Given the description of an element on the screen output the (x, y) to click on. 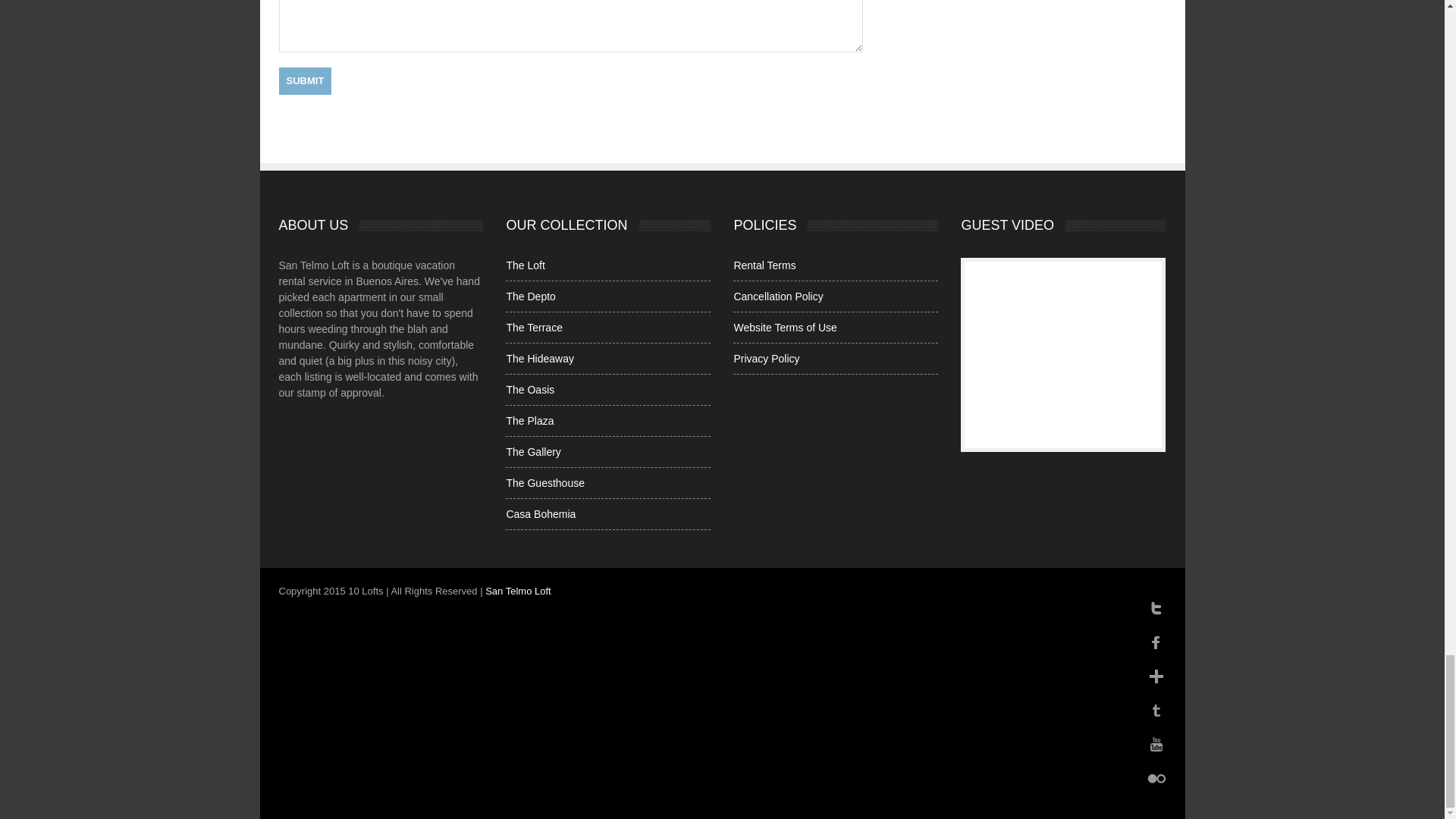
Submit (305, 81)
